Given the description of an element on the screen output the (x, y) to click on. 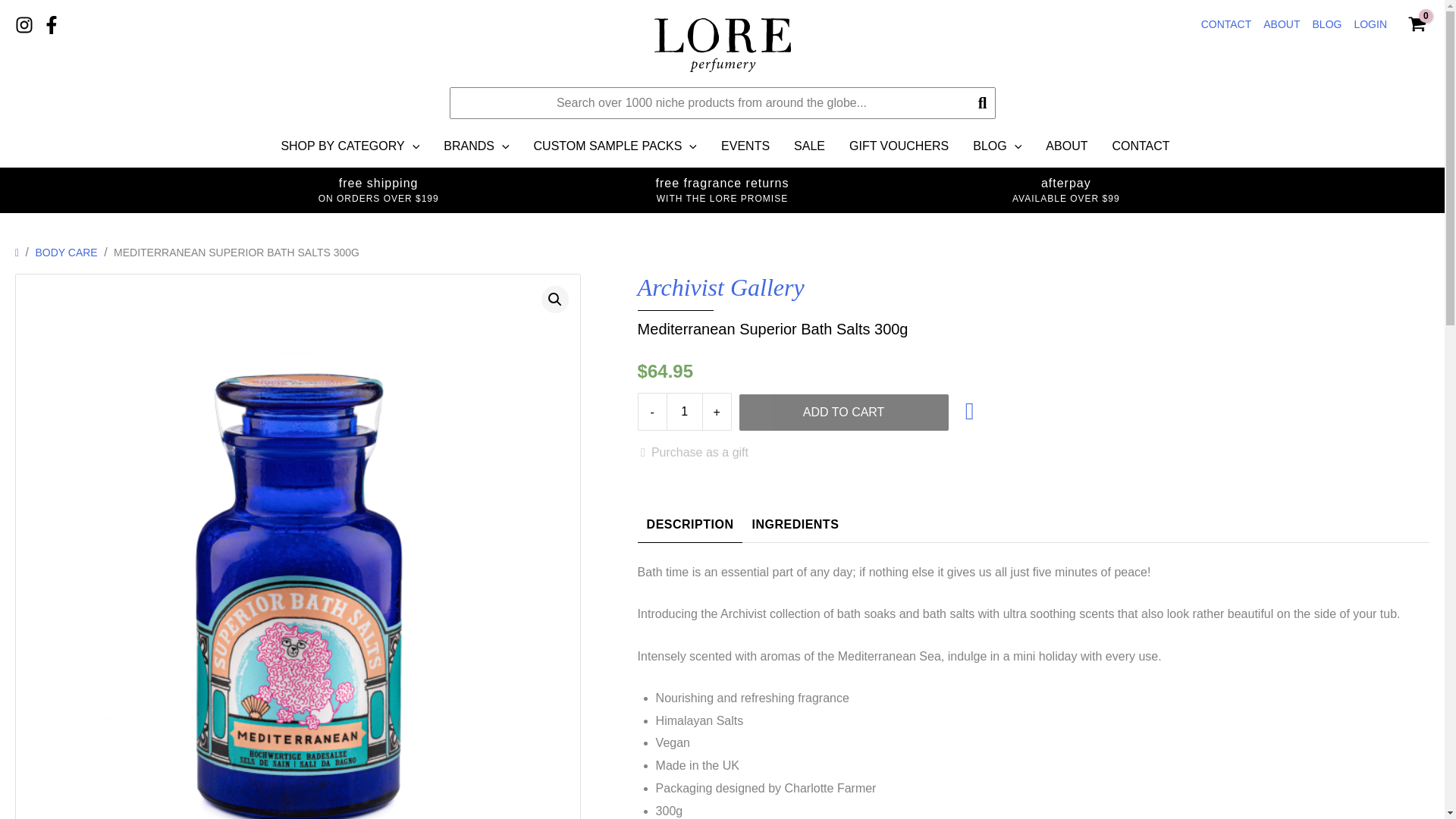
CONTACT (1226, 24)
1 (684, 411)
LOGIN (1370, 24)
BLOG (1327, 24)
View your shopping cart (1416, 24)
SHOP BY CATEGORY (348, 146)
ABOUT (1281, 24)
Search (982, 102)
